Given the description of an element on the screen output the (x, y) to click on. 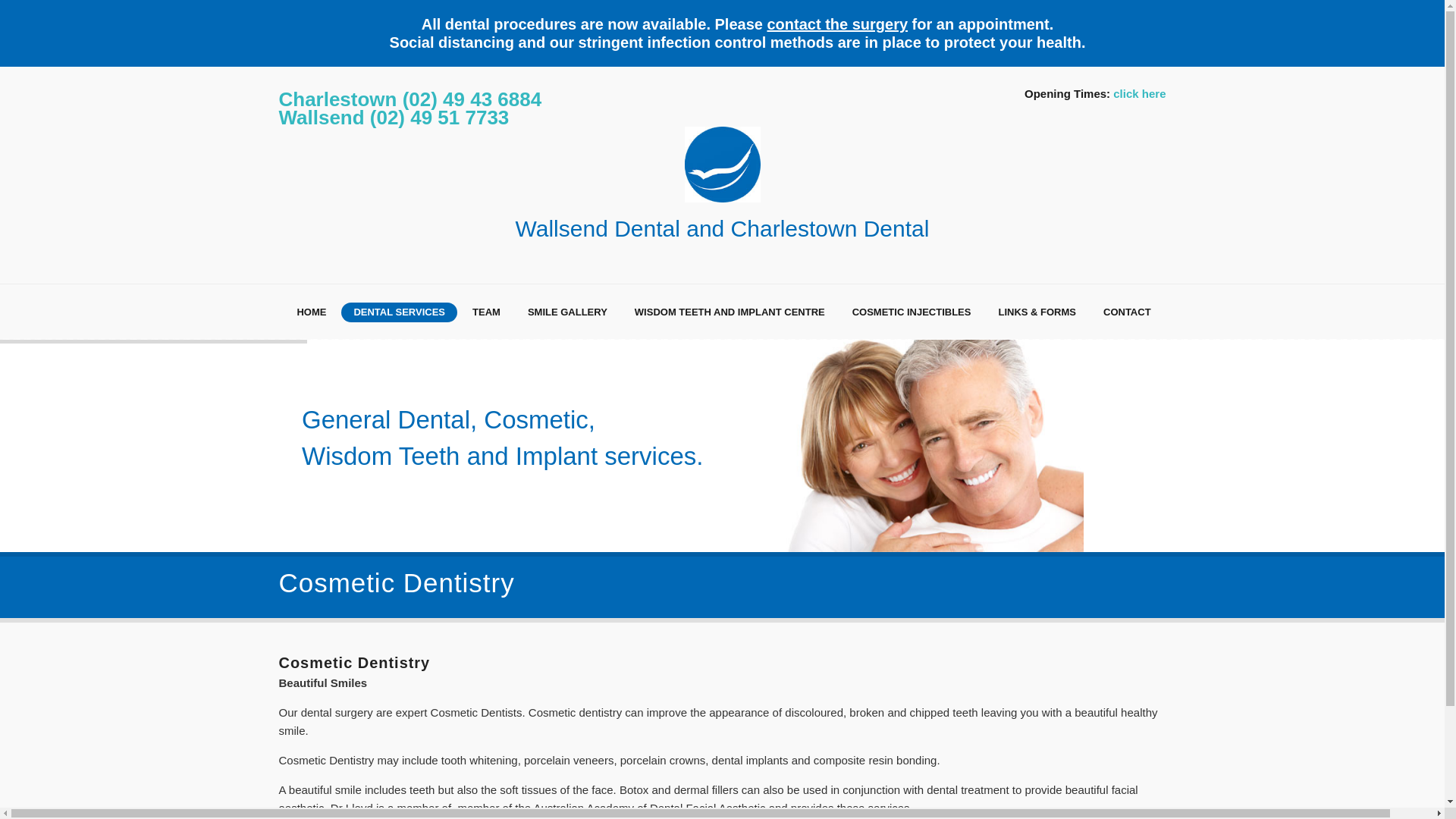
CONTACT Element type: text (1127, 312)
SMILE GALLERY Element type: text (567, 312)
HOME Element type: text (311, 312)
click here Element type: text (1139, 92)
Wallsend Dental and Charlestown Dental Element type: text (722, 184)
WISDOM TEETH AND IMPLANT CENTRE Element type: text (729, 312)
DENTAL SERVICES Element type: text (399, 312)
LINKS & FORMS Element type: text (1036, 312)
contact the surgery Element type: text (836, 23)
COSMETIC INJECTIBLES Element type: text (911, 312)
TEAM Element type: text (486, 312)
